Given the description of an element on the screen output the (x, y) to click on. 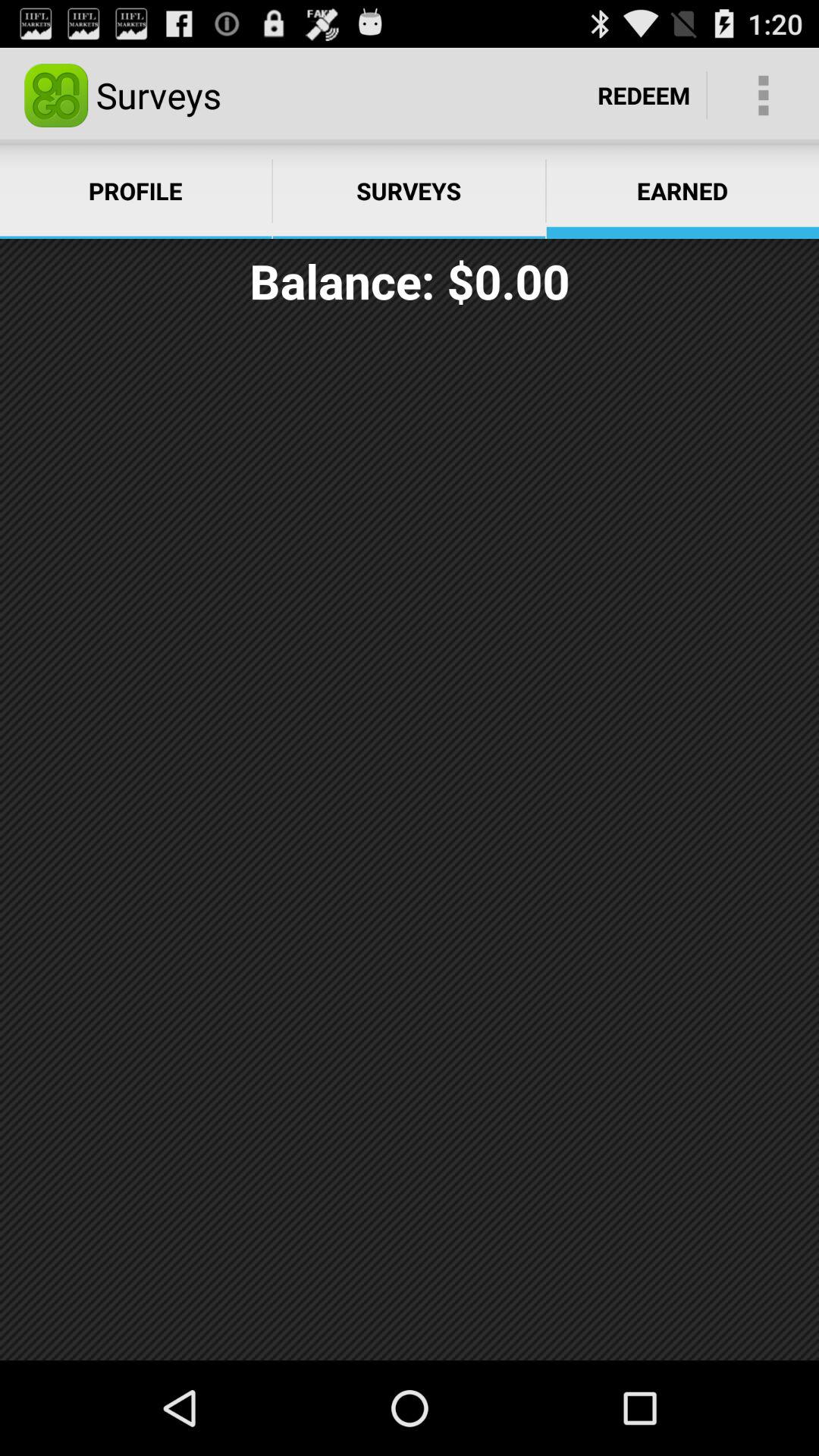
select icon below the balance: $0.00 item (409, 841)
